Given the description of an element on the screen output the (x, y) to click on. 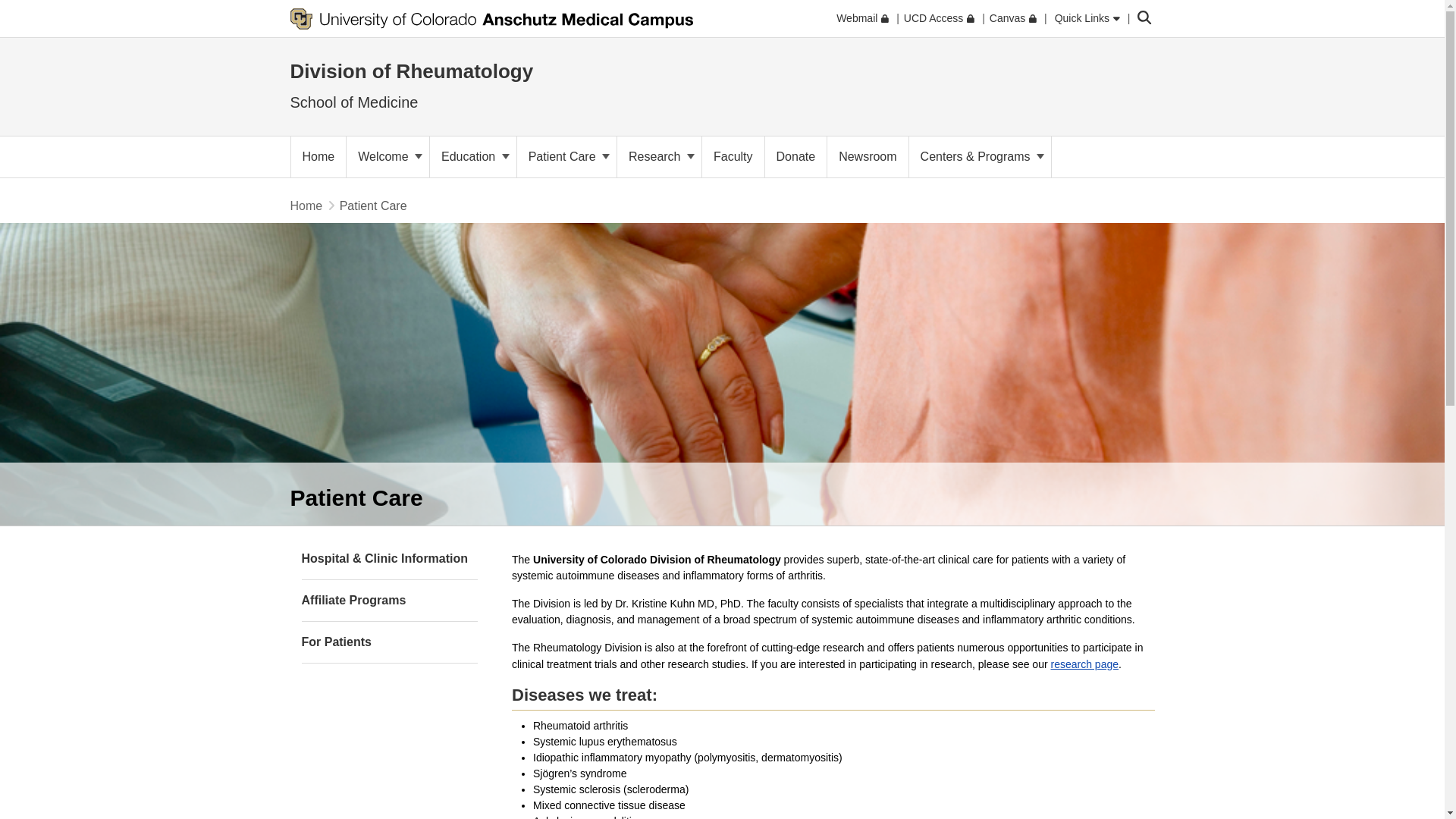
Division of Rheumatology (410, 70)
Canvas (1013, 18)
School of Medicine (353, 102)
Home (318, 156)
Welcome (387, 156)
Webmail (861, 18)
Quick Links (1086, 18)
UCD Access (939, 18)
